Given the description of an element on the screen output the (x, y) to click on. 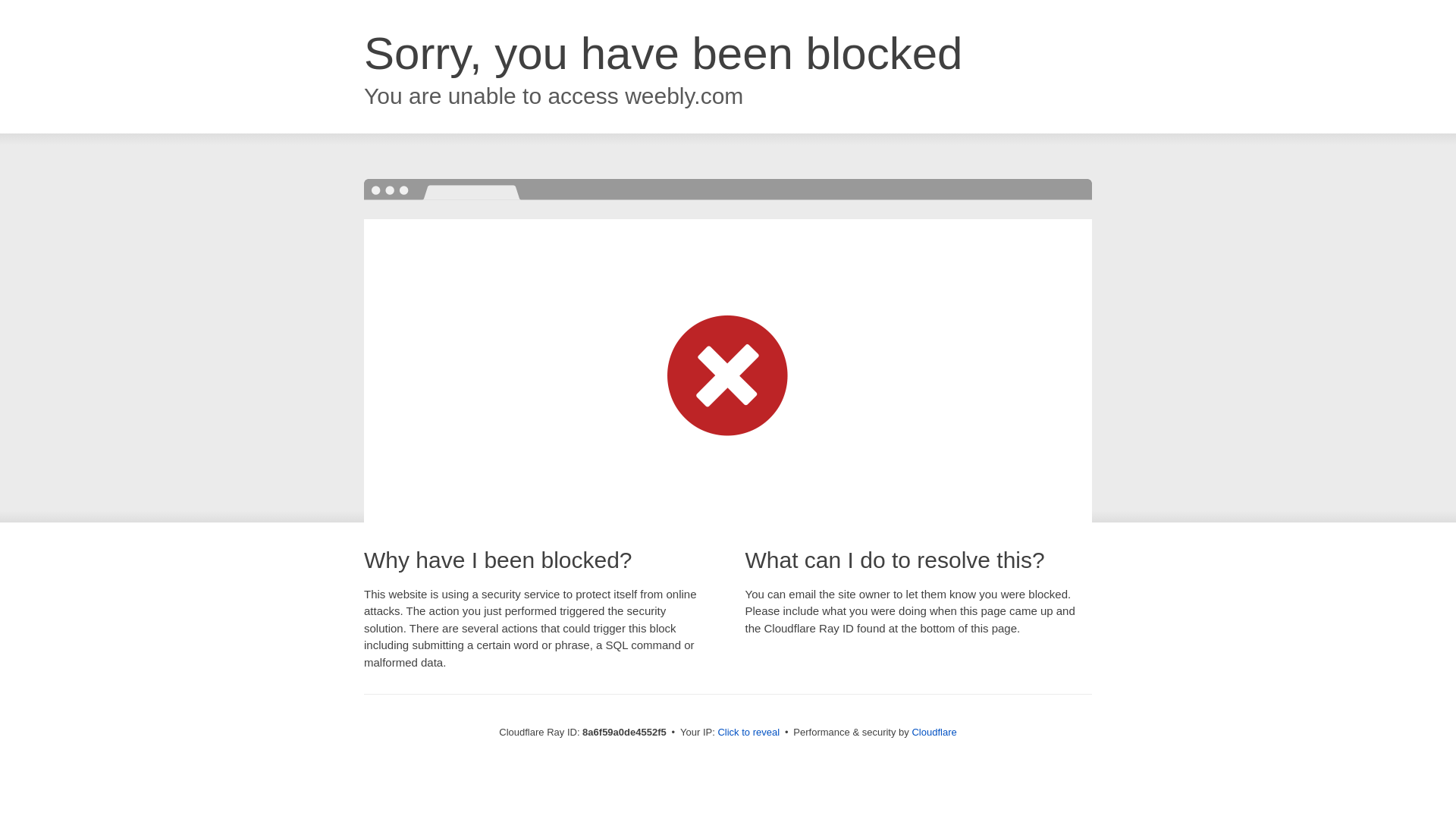
Click to reveal (747, 732)
Cloudflare (933, 731)
